Given the description of an element on the screen output the (x, y) to click on. 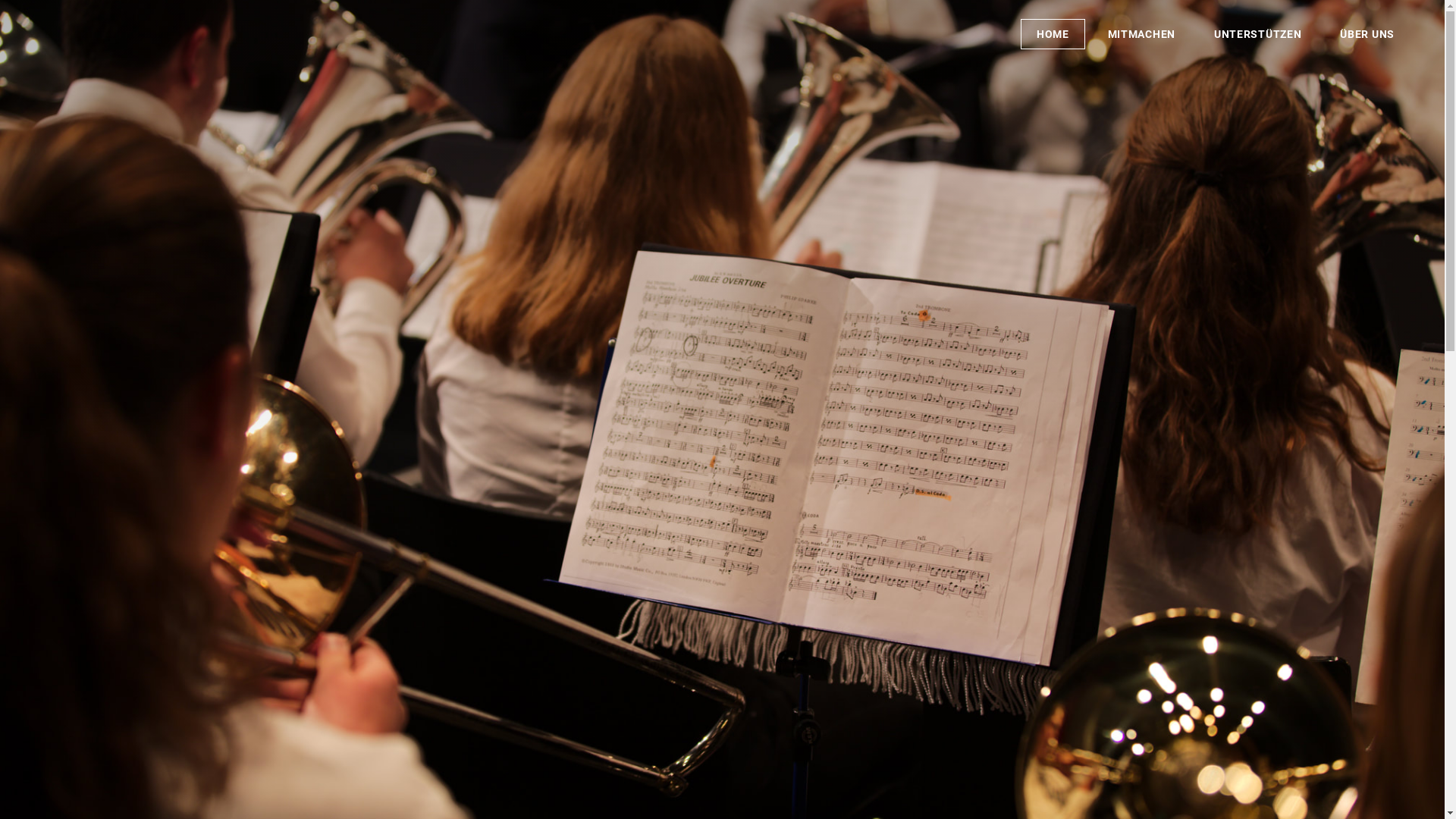
HOME Element type: text (1052, 33)
MITMACHEN Element type: text (1141, 33)
